Given the description of an element on the screen output the (x, y) to click on. 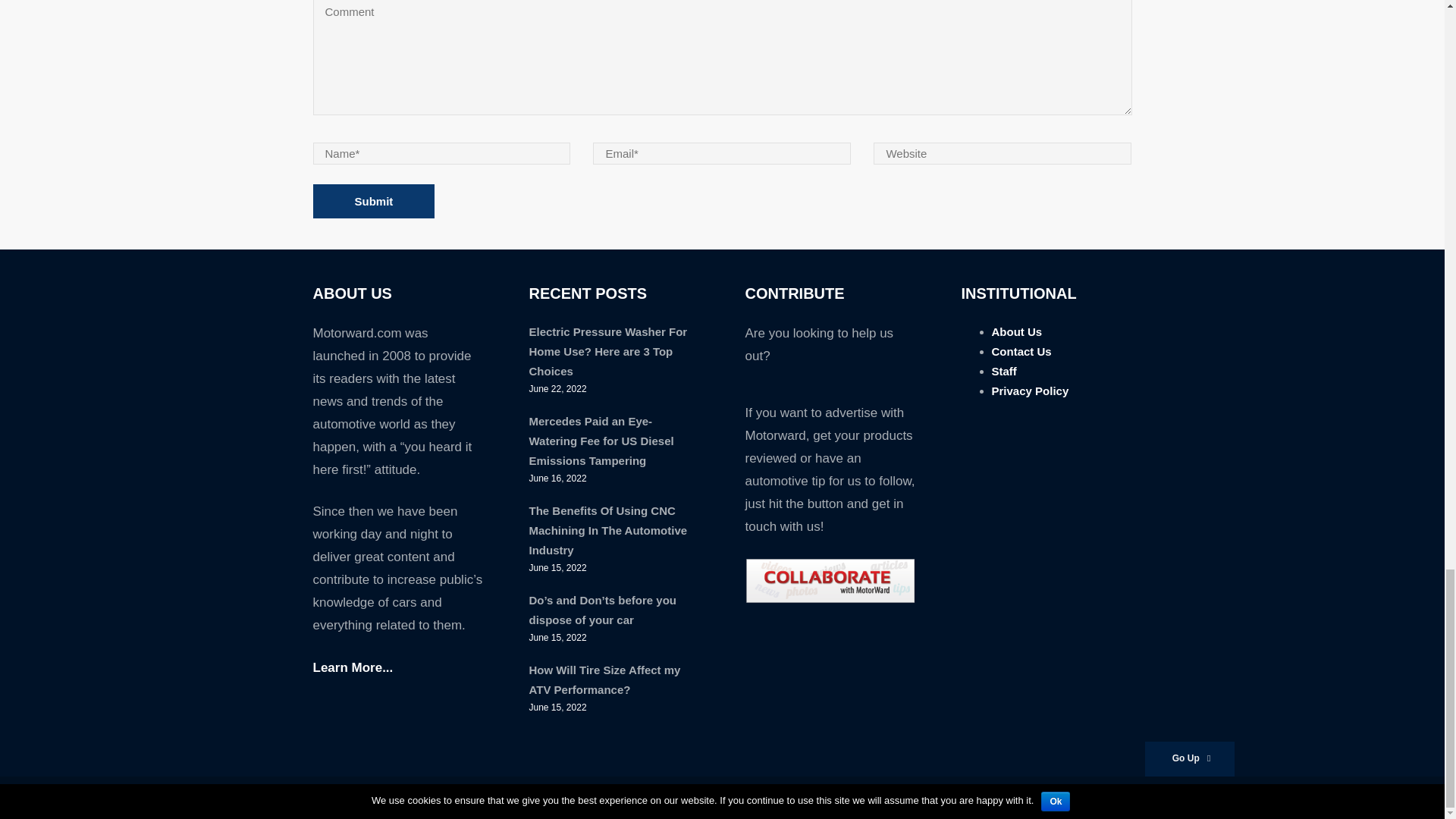
Submit (373, 201)
